Given the description of an element on the screen output the (x, y) to click on. 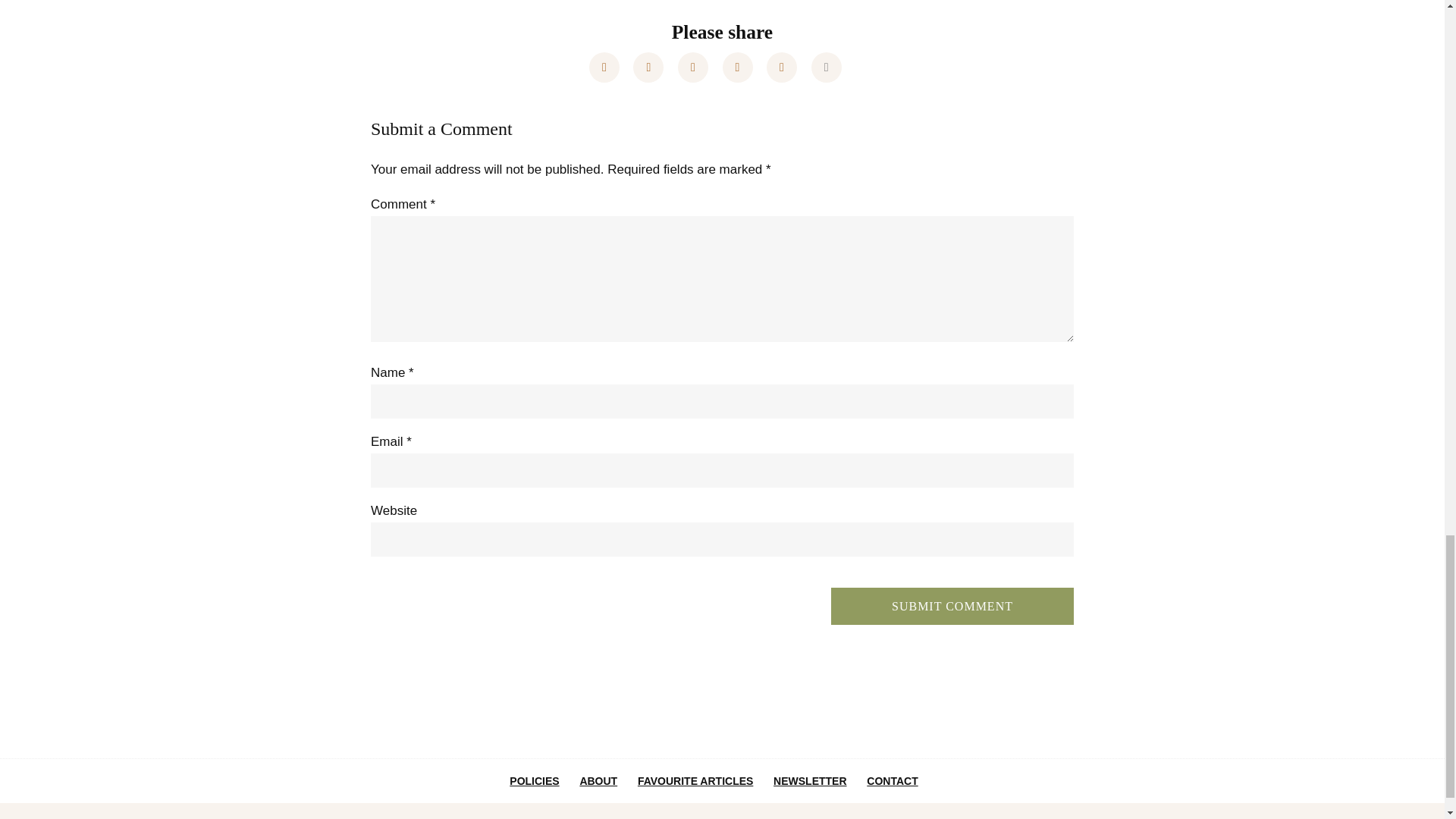
Submit Comment (952, 606)
NEWSLETTER (809, 780)
POLICIES (534, 780)
CONTACT (891, 780)
ABOUT (598, 780)
FAVOURITE ARTICLES (694, 780)
Submit Comment (952, 606)
